Given the description of an element on the screen output the (x, y) to click on. 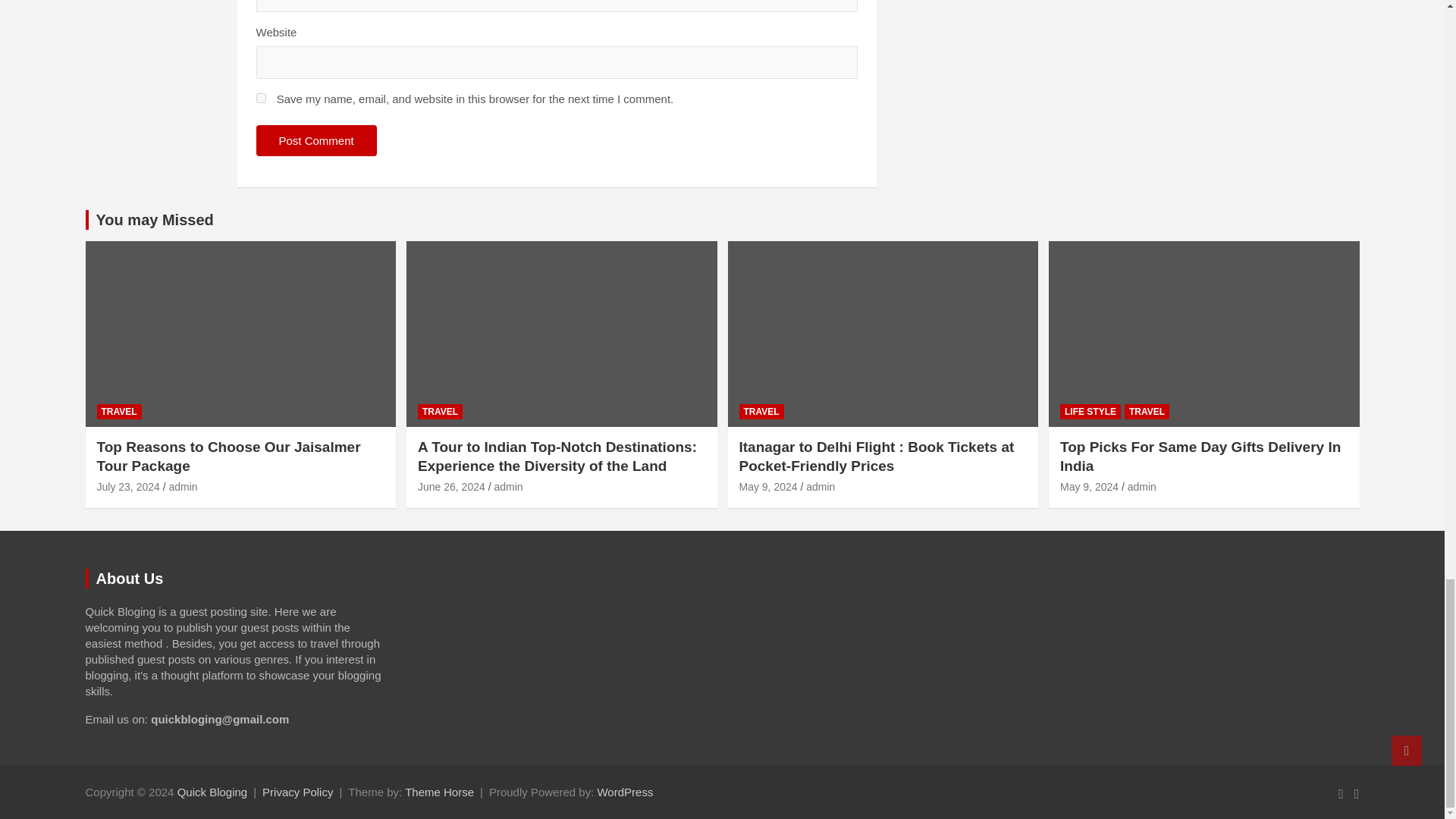
Post Comment (316, 140)
WordPress (624, 791)
Quick Bloging (212, 791)
yes (261, 98)
Top Picks For Same Day Gifts Delivery In India (1088, 486)
Post Comment (316, 140)
Theme Horse (439, 791)
Top Reasons to Choose Our Jaisalmer Tour Package (128, 486)
